Given the description of an element on the screen output the (x, y) to click on. 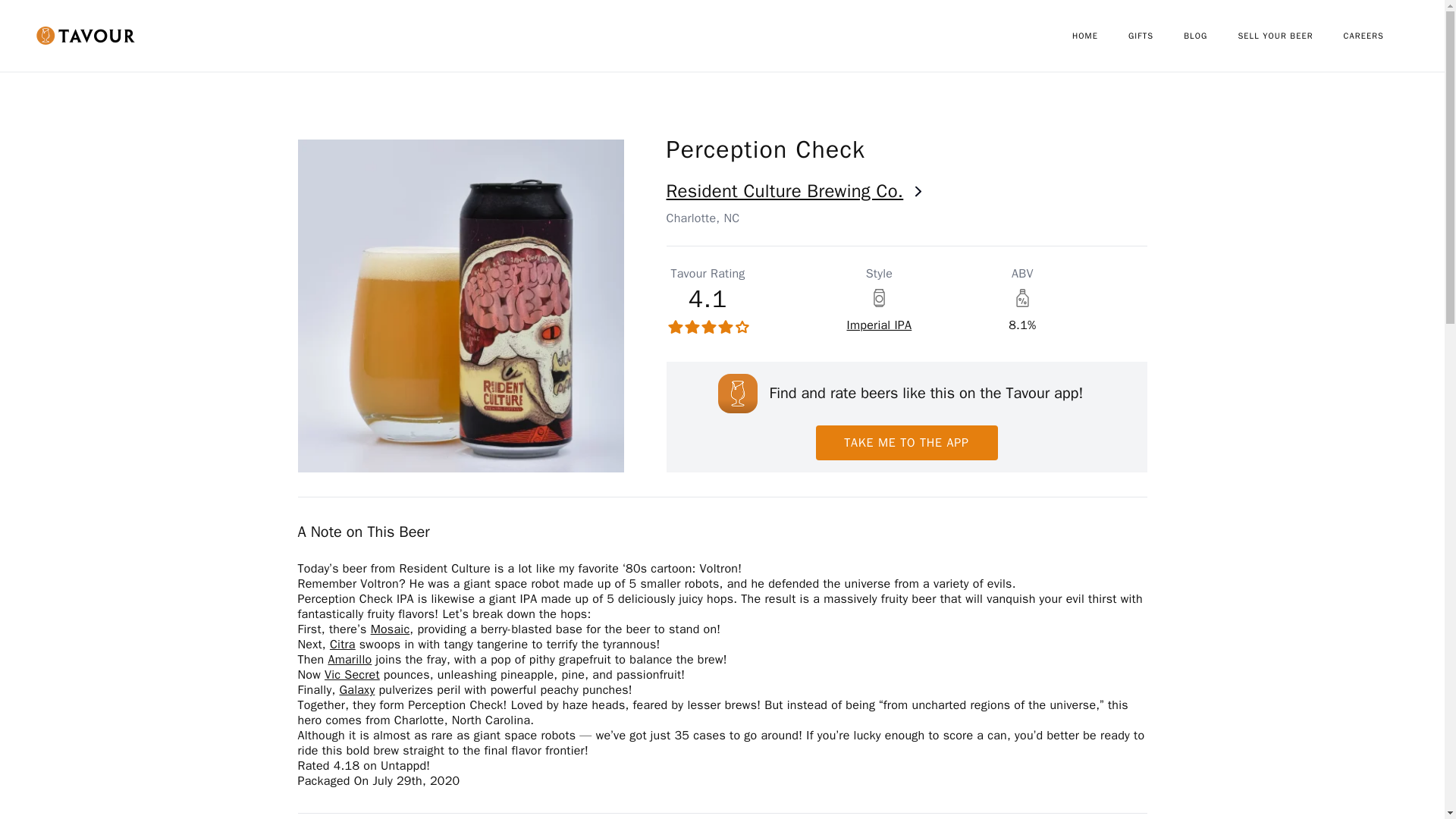
GIFTS (1155, 35)
careers (1378, 35)
blog (1210, 35)
BLOG (1210, 35)
Resident Culture Brewing Co. (906, 191)
HOME (1099, 35)
home (1099, 35)
CAREERS (1378, 35)
gifts (1155, 35)
SELL YOUR BEER (1289, 35)
